Given the description of an element on the screen output the (x, y) to click on. 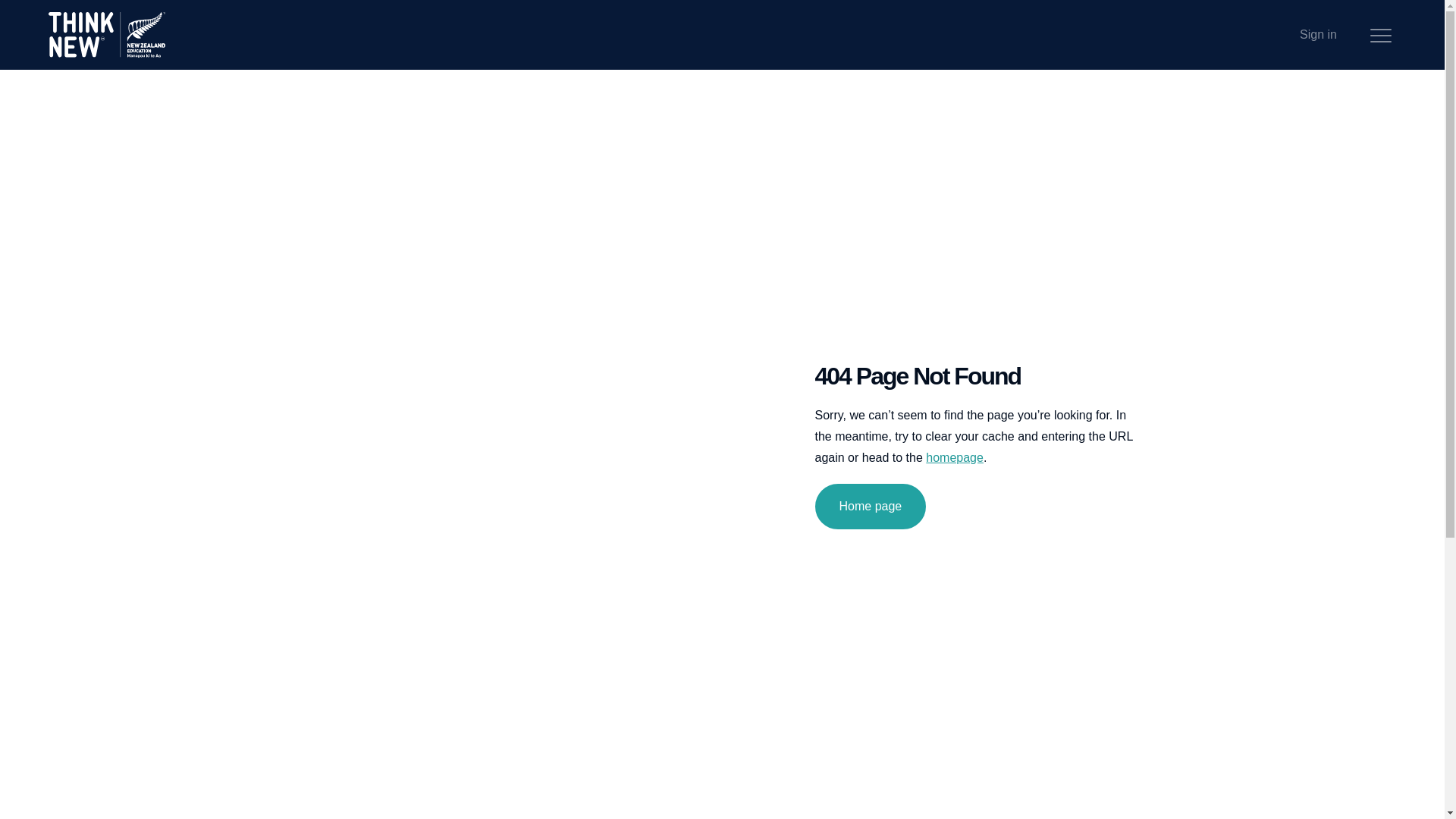
Sign in (1317, 34)
New Zealand Education - Think New Logo (106, 34)
homepage (955, 457)
Home page (869, 506)
Link to homepage (955, 457)
New Zealand Education - Think New Logo (106, 34)
